Given the description of an element on the screen output the (x, y) to click on. 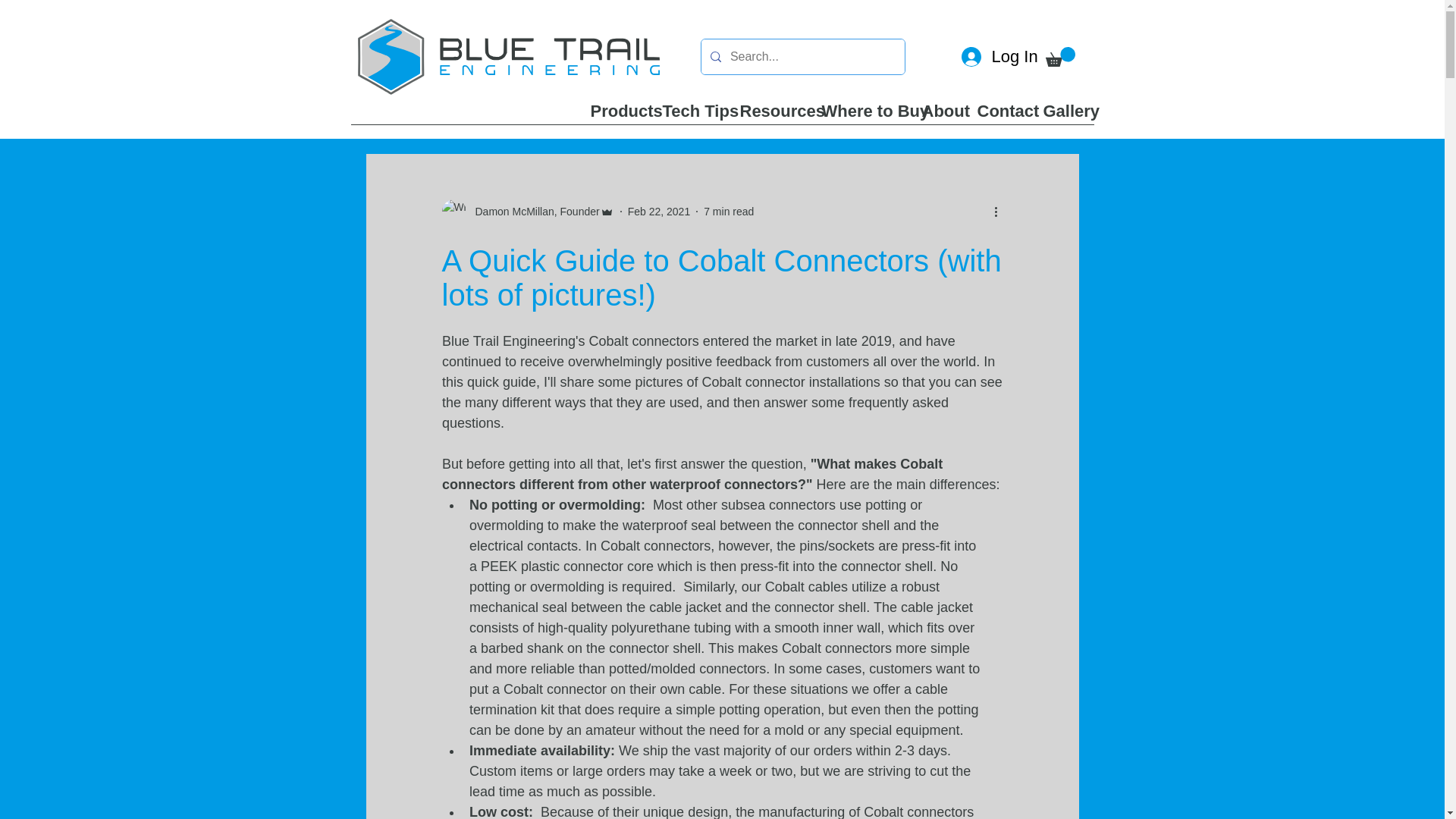
About (937, 115)
Resources (768, 115)
Tech Tips (689, 115)
7 min read (728, 211)
Feb 22, 2021 (658, 211)
Log In (983, 56)
Products (614, 115)
Where to Buy (859, 115)
Gallery (1061, 115)
Damon McMillan, Founder (531, 211)
Contact (999, 115)
Damon McMillan, Founder (526, 211)
